Given the description of an element on the screen output the (x, y) to click on. 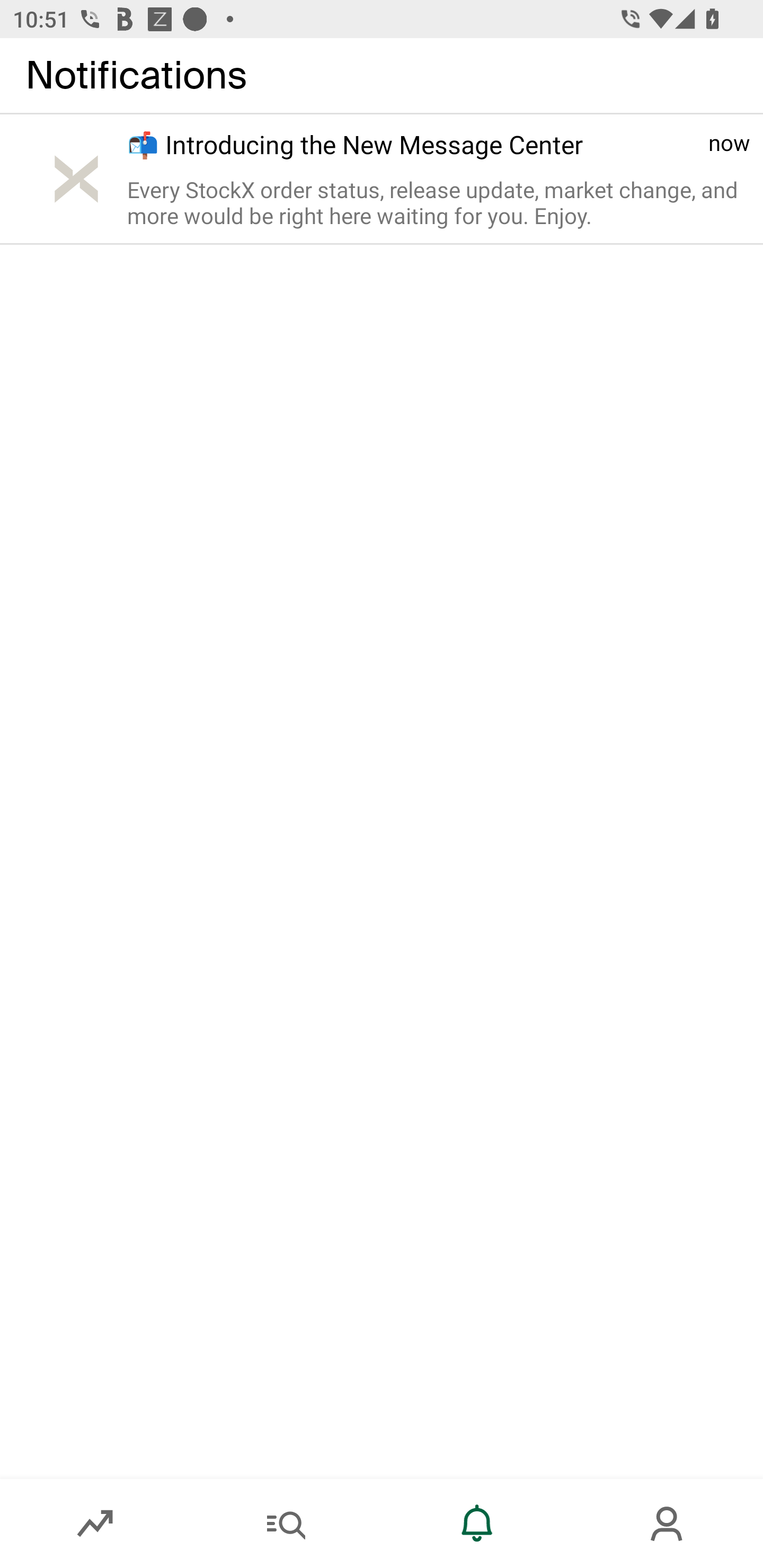
Market (95, 1523)
Search (285, 1523)
Account (667, 1523)
